Given the description of an element on the screen output the (x, y) to click on. 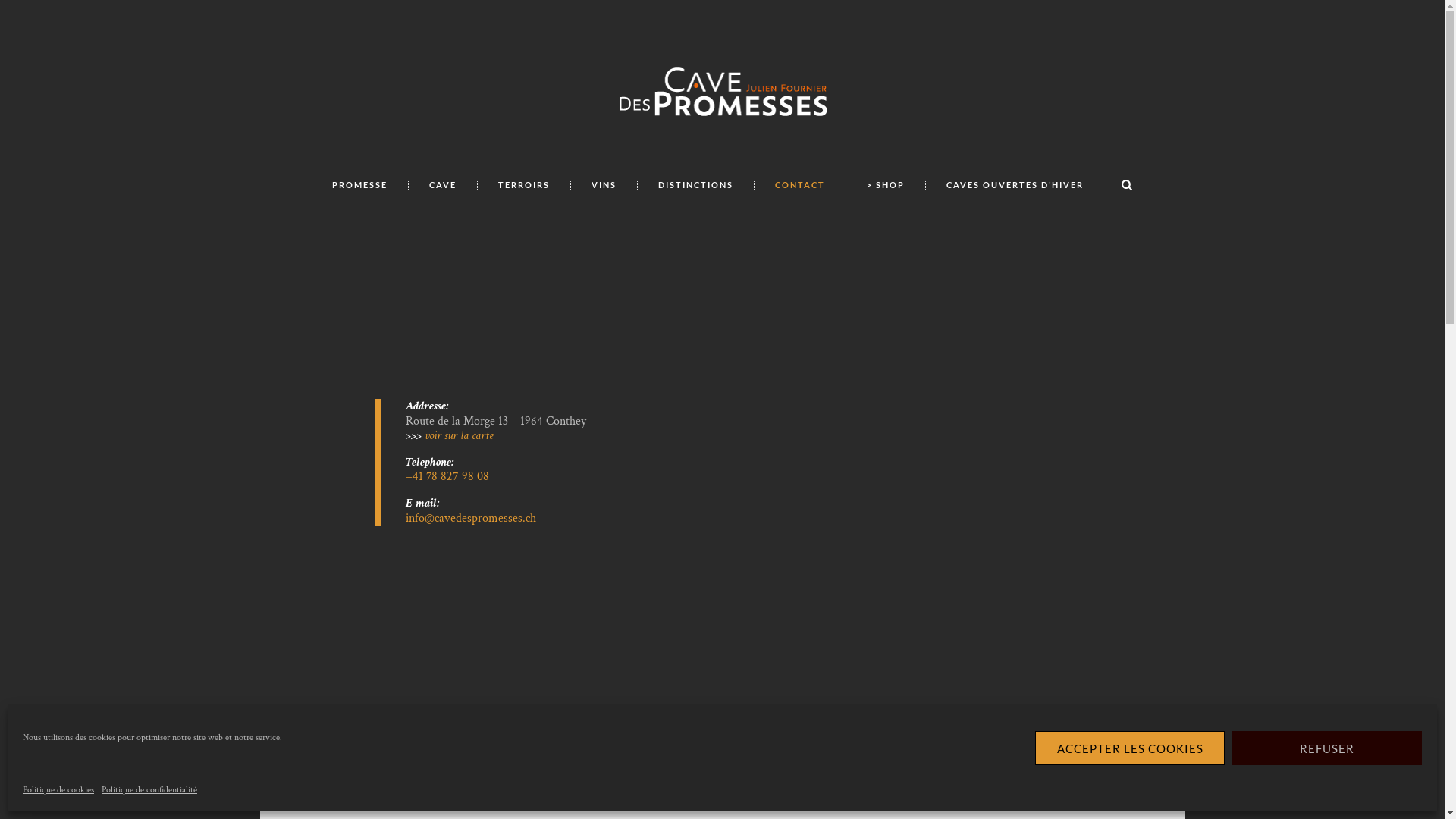
voir sur la carte Element type: text (458, 435)
Politique de cookies Element type: text (58, 790)
DISTINCTIONS Element type: text (695, 185)
ACCEPTER LES COOKIES Element type: text (1129, 748)
TERROIRS Element type: text (523, 185)
+41 78 827 98 08 Element type: text (447, 476)
CAVE Element type: text (441, 185)
VINS Element type: text (603, 185)
info@cavedespromesses.ch Element type: text (470, 518)
PROMESSE Element type: text (358, 185)
CONTACT Element type: text (799, 185)
> SHOP Element type: text (885, 185)
REFUSER Element type: text (1326, 748)
